Given the description of an element on the screen output the (x, y) to click on. 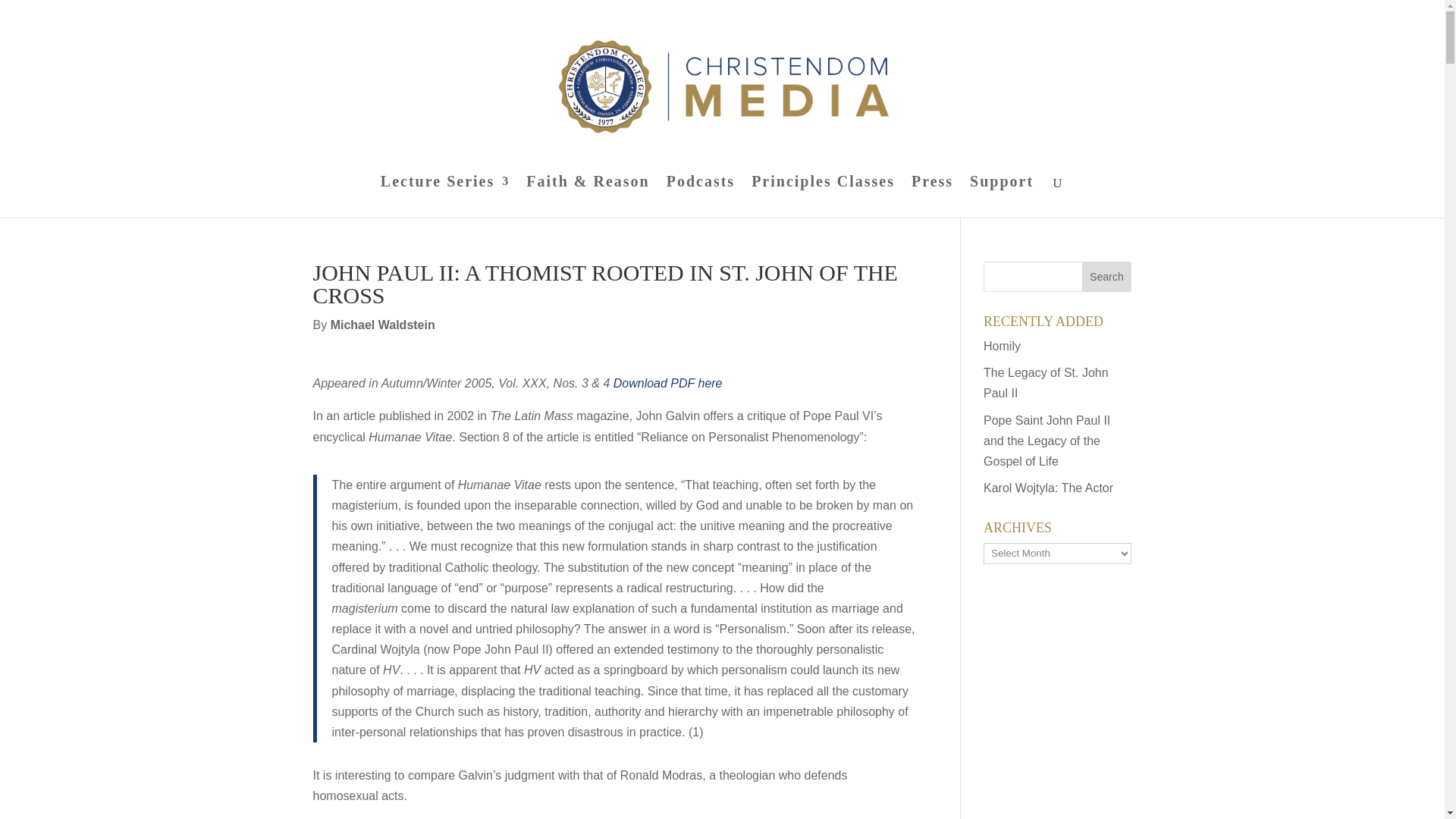
Homily (1002, 345)
Karol Wojtyla: The Actor (1048, 487)
Search (1106, 276)
Download PDF here (667, 382)
Podcasts (700, 196)
Support (1001, 196)
Pope Saint John Paul II and the Legacy of the Gospel of Life (1046, 440)
The Legacy of St. John Paul II (1046, 382)
Principles Classes (823, 196)
Search (1106, 276)
